Given the description of an element on the screen output the (x, y) to click on. 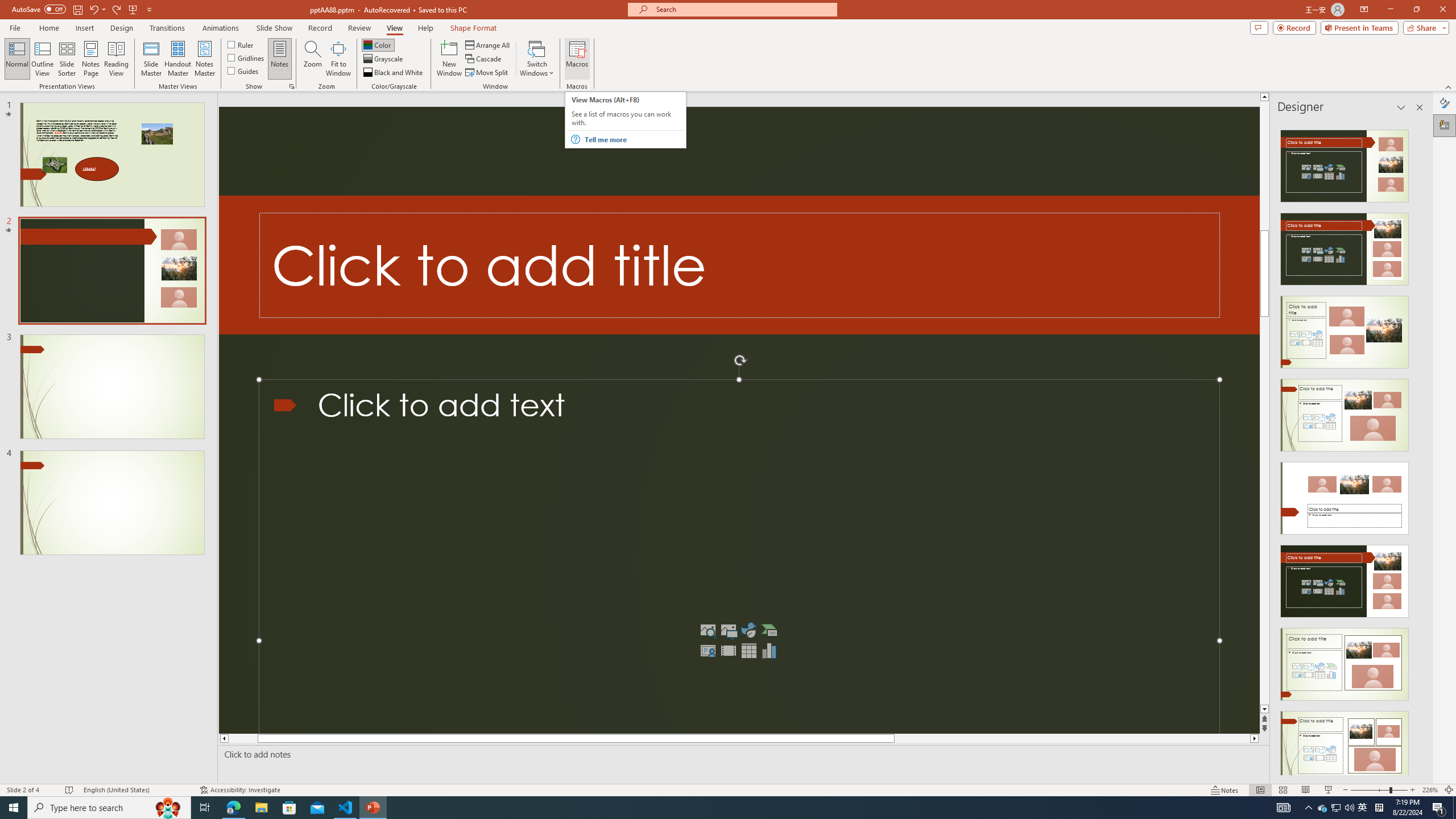
New Window (449, 58)
Handout Master (177, 58)
Macros (576, 58)
Decorative Locked (738, 264)
Zoom... (312, 58)
Arrange All (488, 44)
